Given the description of an element on the screen output the (x, y) to click on. 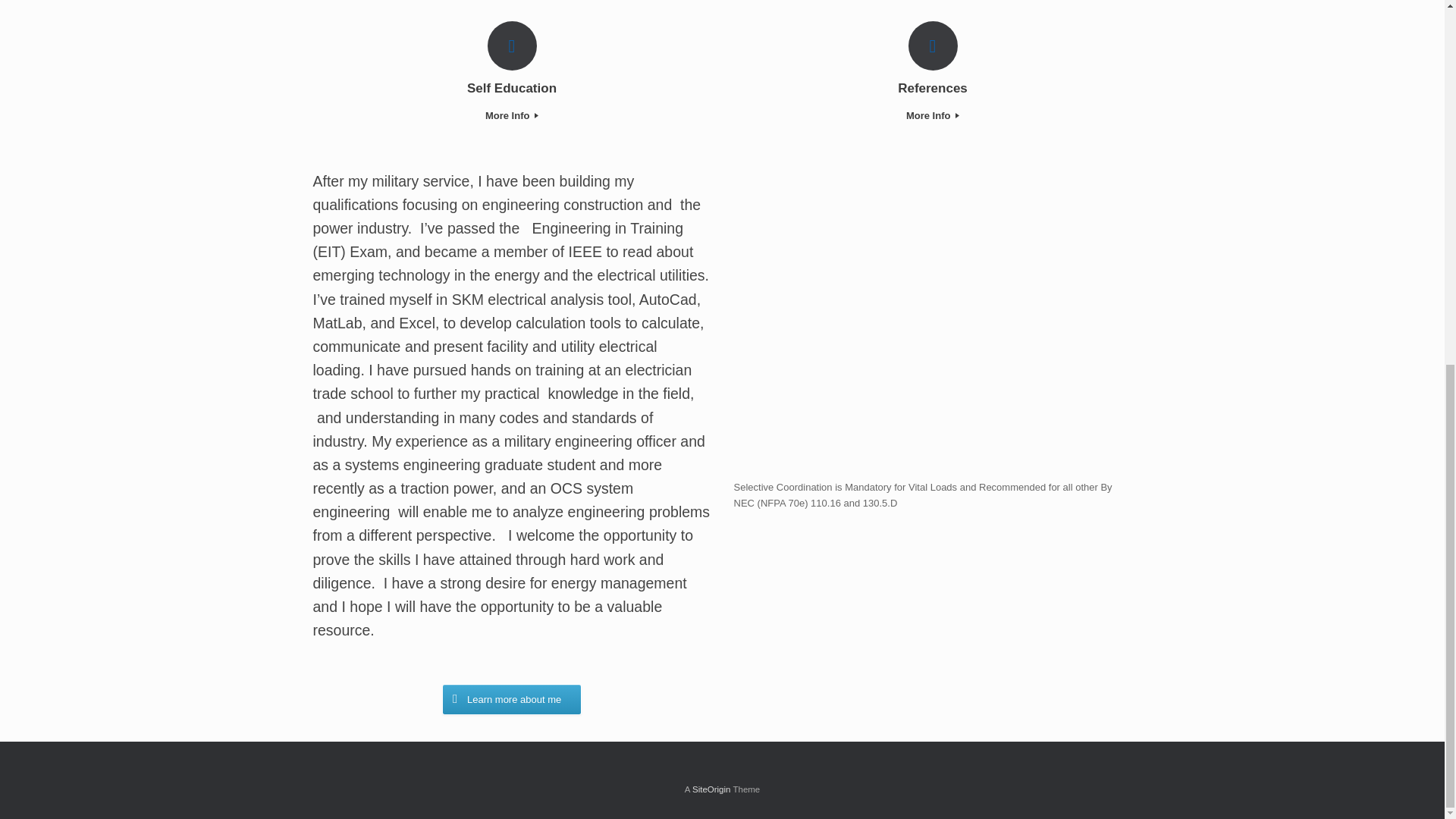
References (931, 87)
More Info (931, 116)
Self Education (512, 87)
More Info (512, 116)
Learn more about me (511, 698)
